Given the description of an element on the screen output the (x, y) to click on. 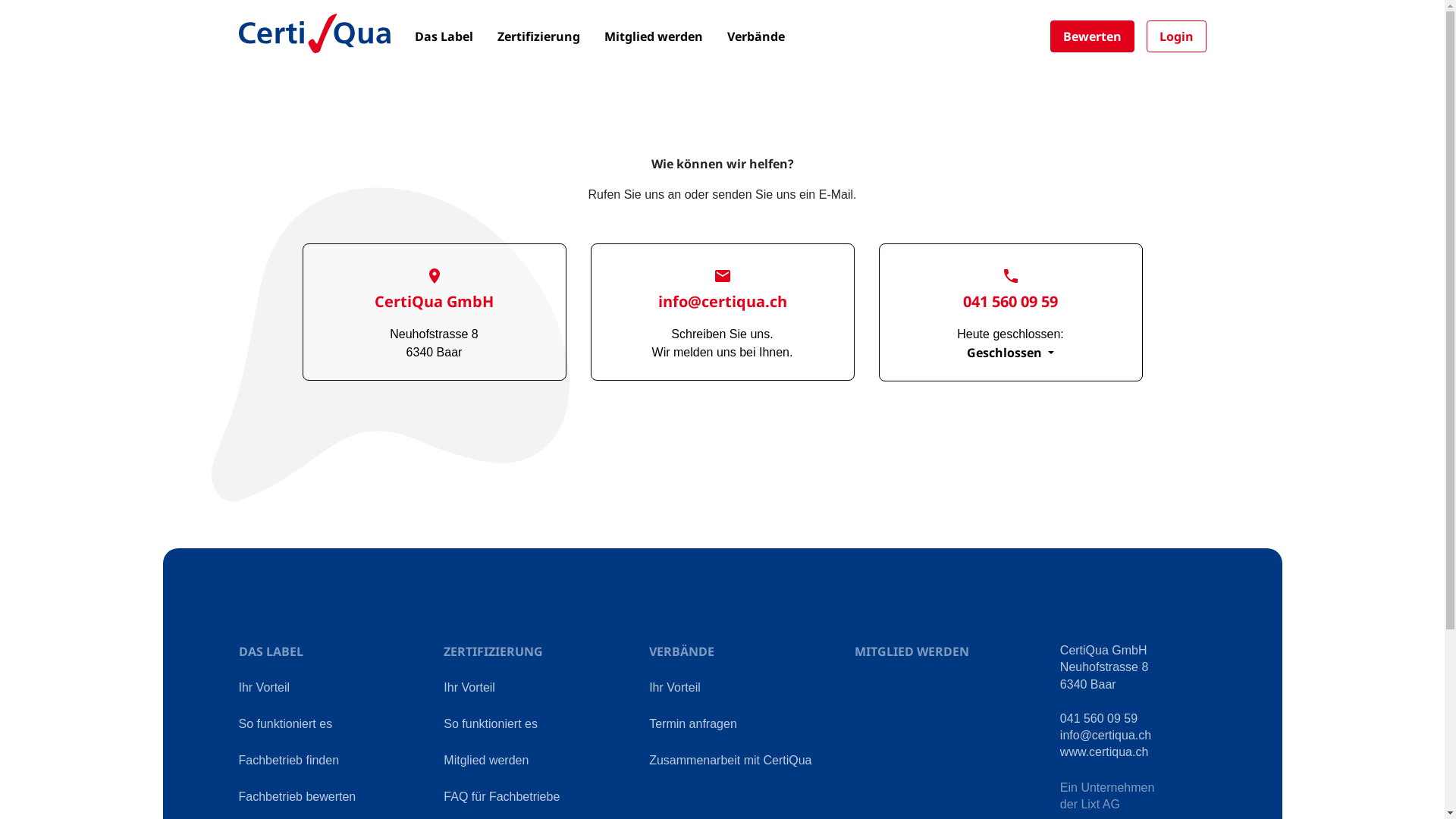
Das Label Element type: text (442, 35)
Bewerten Element type: text (1091, 36)
Login Element type: text (1176, 36)
So funktioniert es Element type: text (285, 723)
041 560 09 59 Element type: text (1098, 718)
Fachbetrieb bewerten Element type: text (296, 796)
Fachbetrieb finden Element type: text (288, 759)
MITGLIED WERDEN Element type: text (911, 651)
Zertifizierung Element type: text (538, 35)
Ihr Vorteil Element type: text (469, 686)
ZERTIFIZIERUNG Element type: text (492, 651)
info@certiqua.ch Element type: text (722, 290)
Ihr Vorteil Element type: text (674, 686)
Mitglied werden Element type: text (652, 35)
041 560 09 59 Element type: text (1010, 290)
info@certiqua.ch Element type: text (1105, 734)
DAS LABEL Element type: text (270, 651)
Mitglied werden Element type: text (485, 759)
CertiQua GmbH Element type: text (433, 290)
So funktioniert es Element type: text (490, 723)
www.certiqua.ch Element type: text (1104, 751)
Ihr Vorteil Element type: text (263, 686)
Zusammenarbeit mit CertiQua Element type: text (730, 759)
Termin anfragen Element type: text (693, 723)
